Given the description of an element on the screen output the (x, y) to click on. 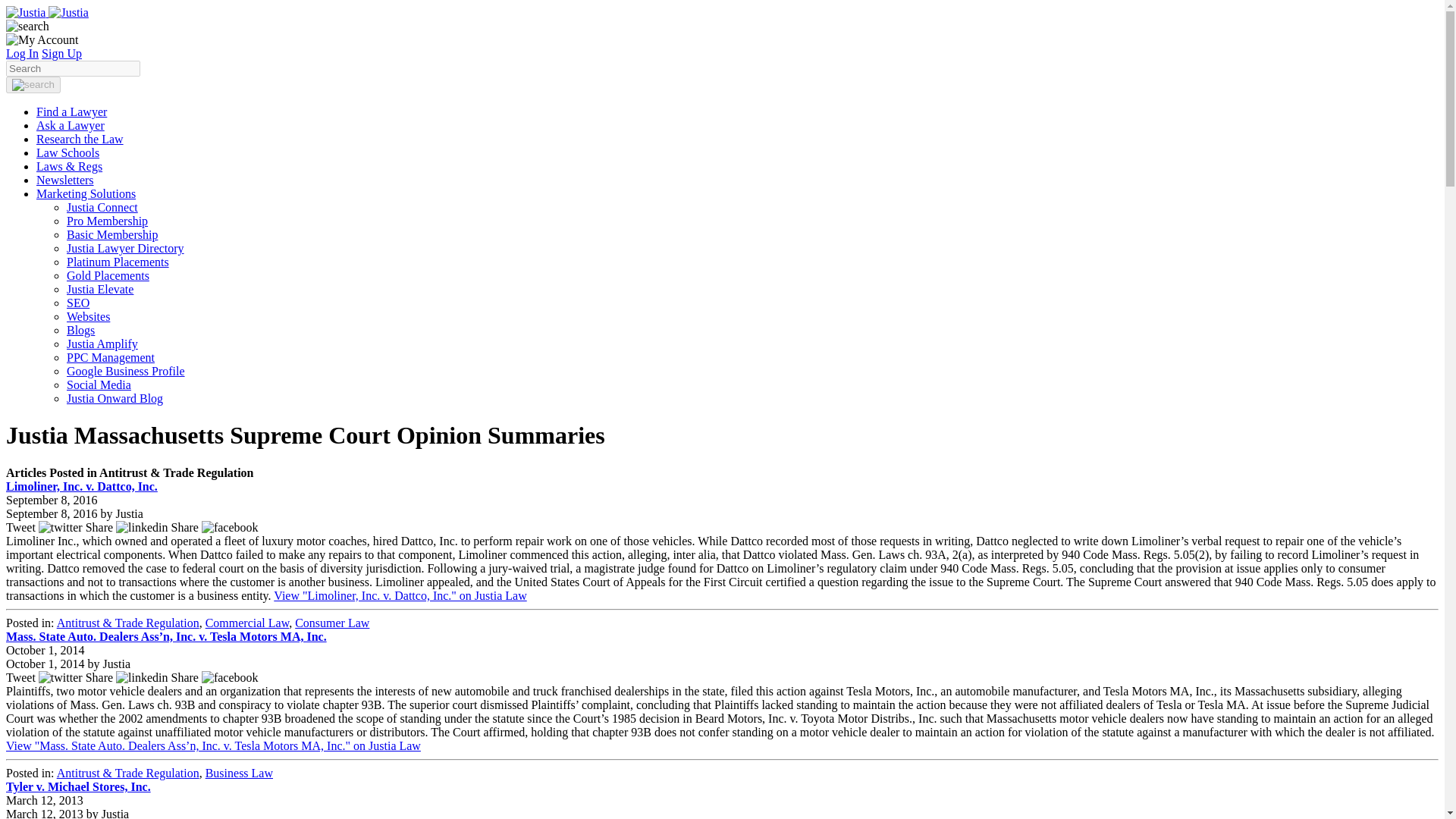
Websites (88, 316)
Basic Membership (111, 234)
Commercial Law (246, 622)
Justia Amplify (102, 343)
Justia Lawyer Directory (125, 247)
Justia Onward Blog (114, 398)
View all posts in Consumer Law (332, 622)
Tweet (45, 676)
Pro Membership (107, 220)
Blogs (80, 329)
Consumer Law (332, 622)
View all posts in Business Law (239, 772)
Permalink to Limoliner, Inc. v. Dattco, Inc. (81, 486)
Research the Law (79, 138)
Log In (22, 52)
